Given the description of an element on the screen output the (x, y) to click on. 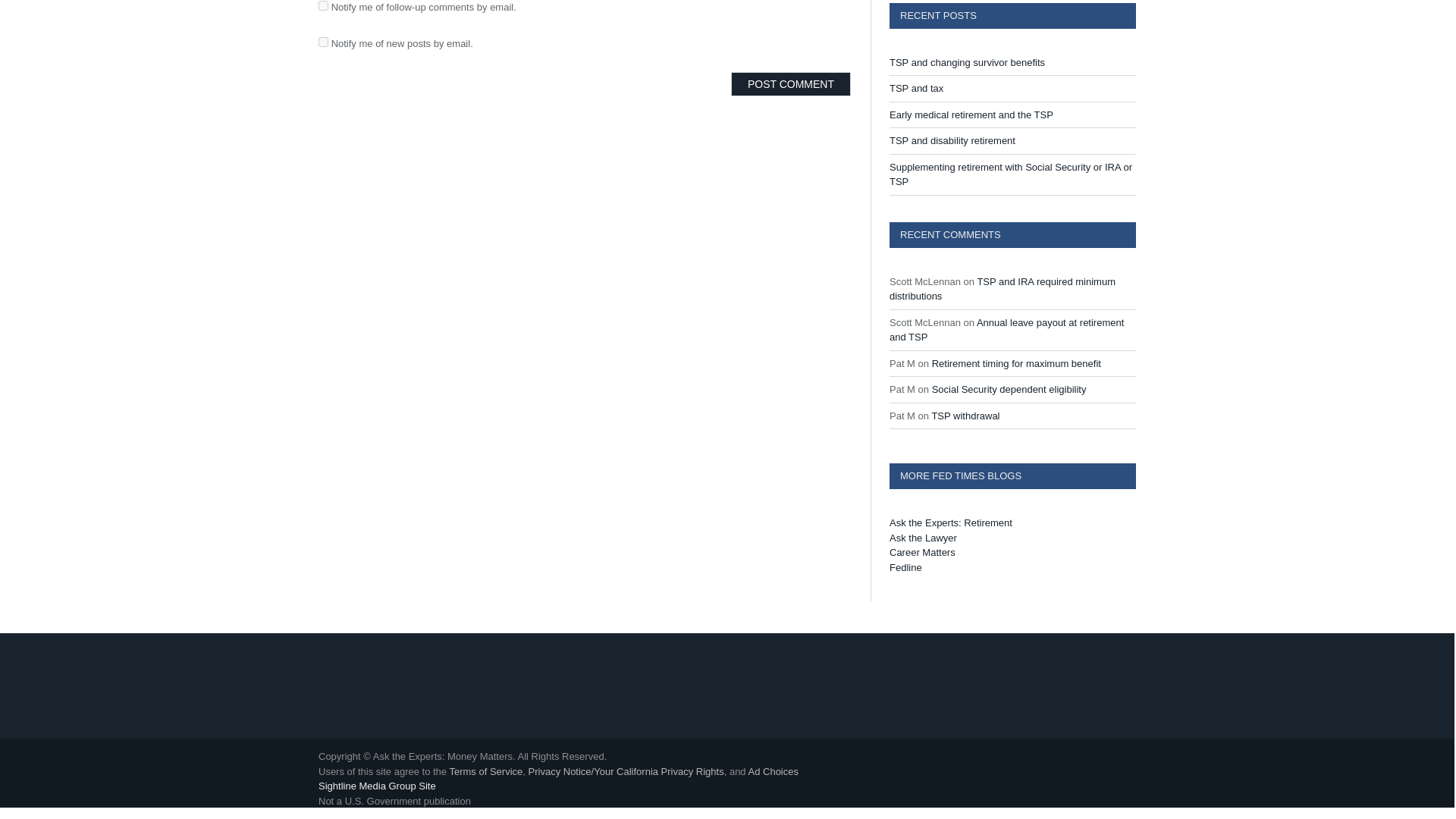
subscribe (323, 5)
subscribe (323, 41)
Post Comment (790, 84)
